Given the description of an element on the screen output the (x, y) to click on. 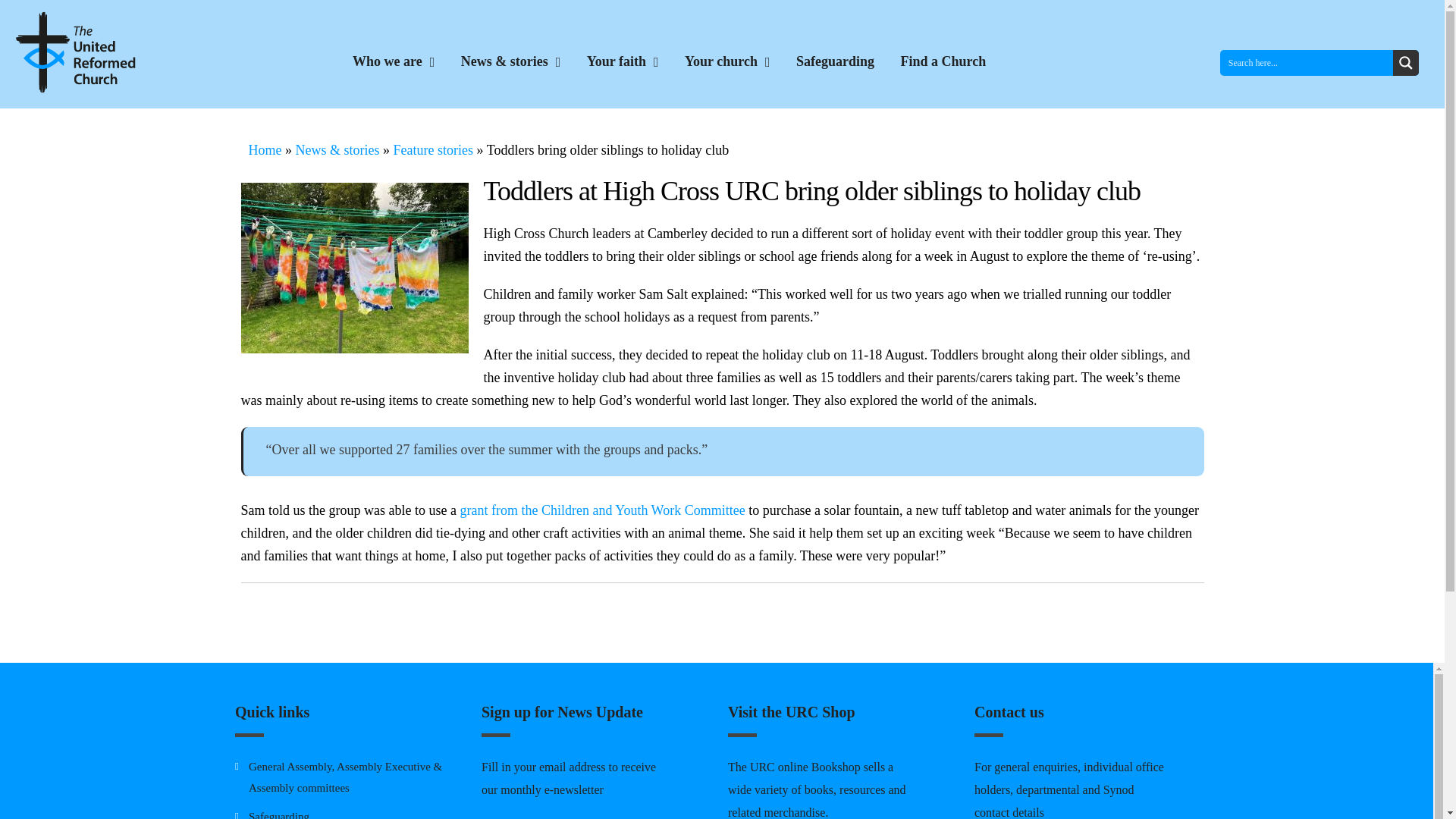
Your faith (622, 62)
Who we are (392, 62)
Safeguarding (835, 61)
grant from the Children and Youth Work Committee (602, 509)
Home (265, 150)
Feature stories (432, 150)
Find a Church (944, 61)
Your church (727, 62)
Tie-dyed clothes hanging on a washing line (354, 267)
Safeguarding (278, 814)
